Given the description of an element on the screen output the (x, y) to click on. 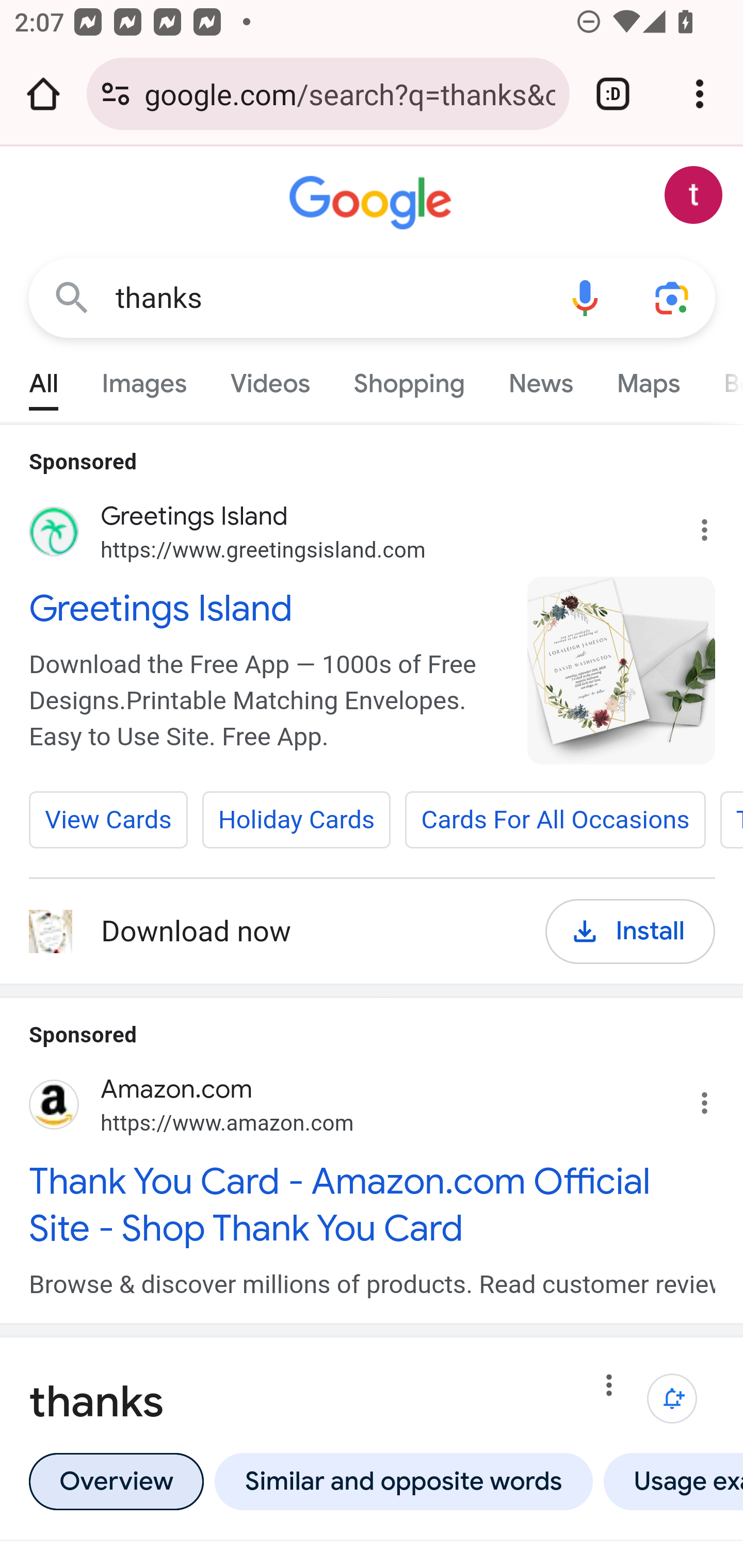
Open the home page (43, 93)
Connection is secure (115, 93)
Switch or close tabs (612, 93)
Customize and control Google Chrome (699, 93)
Google (372, 203)
Google Search (71, 296)
Search using your camera or photos (672, 296)
thanks (328, 297)
Images (144, 378)
Videos (270, 378)
Shopping (408, 378)
News (540, 378)
Maps (647, 378)
Why this ad? (714, 525)
Image from greetingsisland.com (621, 670)
Greetings Island (266, 608)
View Cards (108, 819)
Holiday Cards (295, 819)
Cards For All Occasions (554, 819)
Download now JAAAAAElFTkSuQmCC Download now (273, 932)
Install (630, 930)
Why this ad? (714, 1096)
Get notifications about Word of the day (672, 1397)
More options (609, 1389)
Overview (116, 1480)
Similar and opposite words (403, 1480)
